Given the description of an element on the screen output the (x, y) to click on. 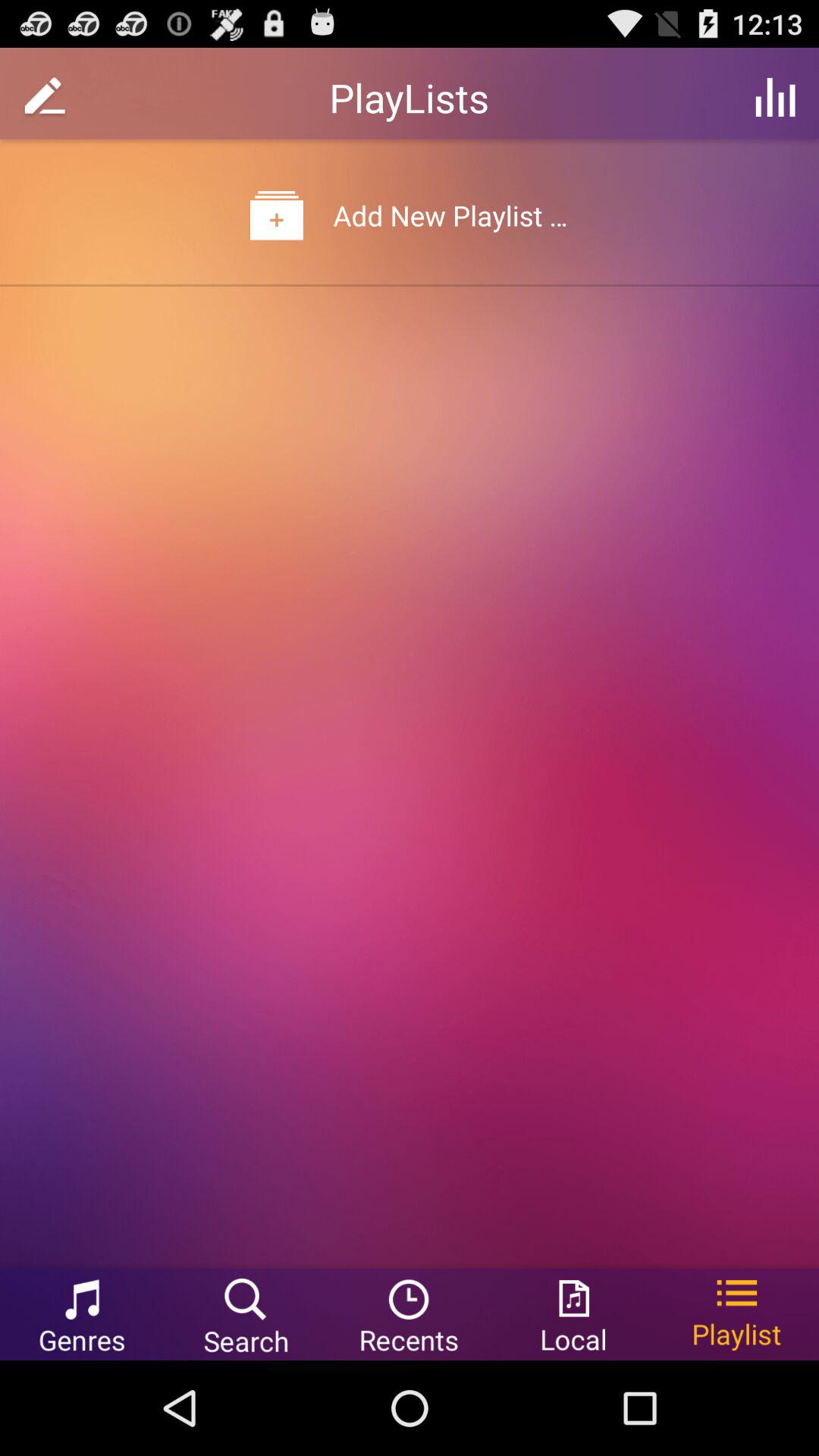
open the item at the center (409, 773)
